Given the description of an element on the screen output the (x, y) to click on. 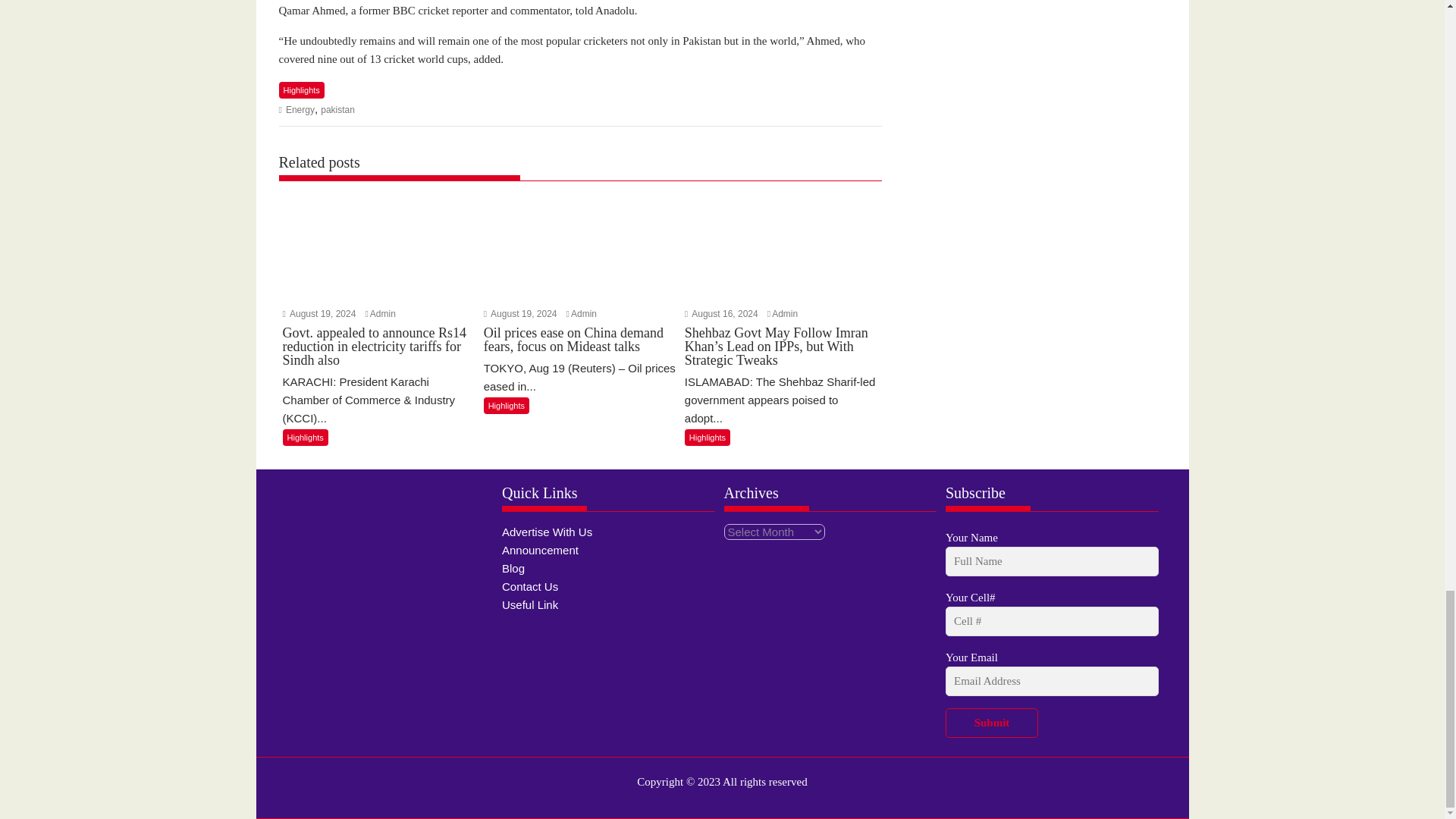
Admin (382, 313)
Submit (991, 722)
Admin (583, 313)
Admin (784, 313)
